Given the description of an element on the screen output the (x, y) to click on. 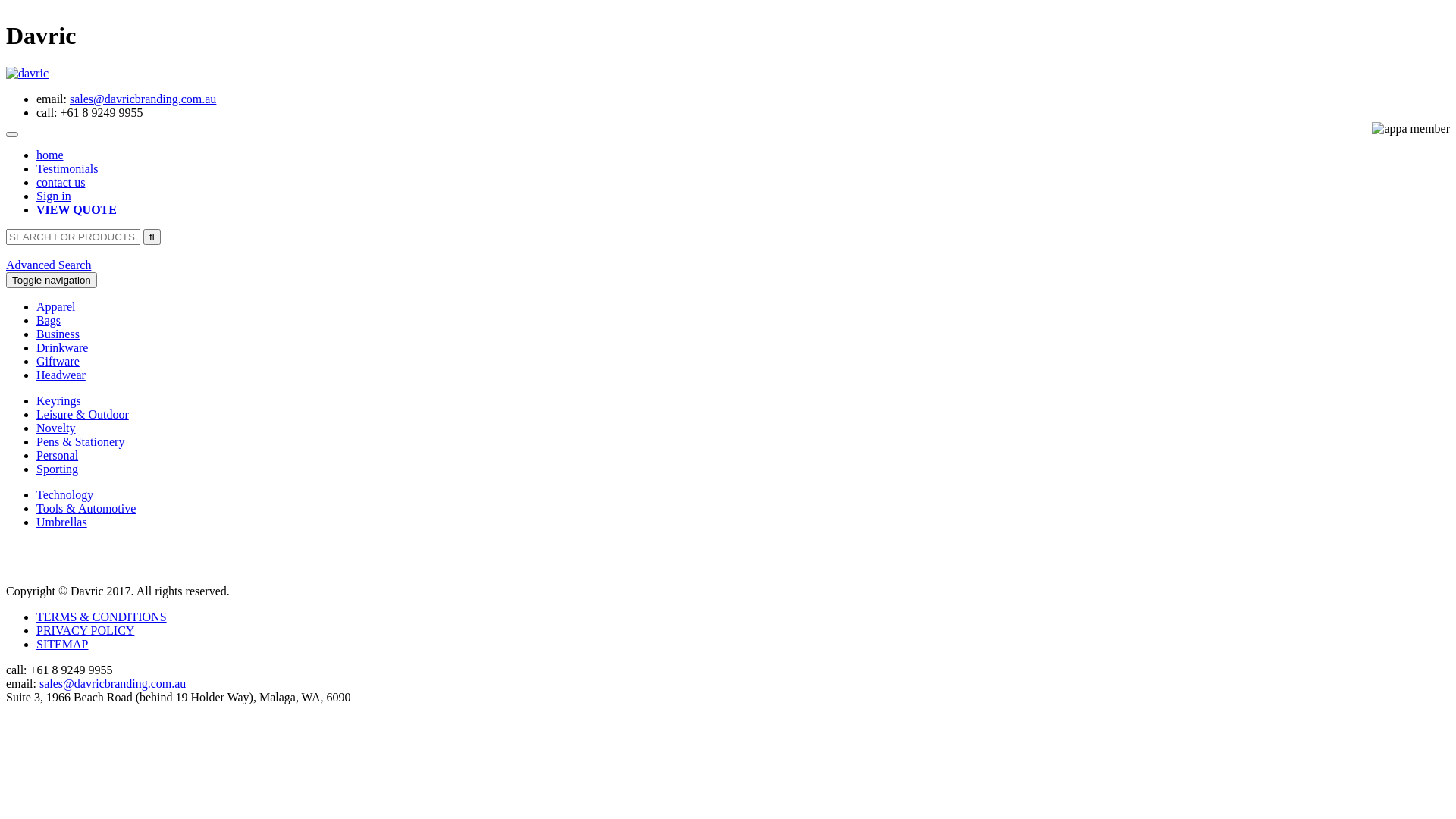
Personal Element type: text (57, 454)
Technology Element type: text (64, 494)
Tools & Automotive Element type: text (85, 508)
SITEMAP Element type: text (61, 643)
contact us Element type: text (60, 181)
Drinkware Element type: text (61, 347)
Toggle navigation Element type: text (51, 280)
sales@davricbranding.com.au Element type: text (142, 98)
Advanced Search Element type: text (48, 264)
Novelty Element type: text (55, 427)
home Element type: text (49, 154)
Testimonials Element type: text (67, 168)
Sporting Element type: text (57, 468)
Business Element type: text (57, 333)
Bags Element type: text (48, 319)
TERMS & CONDITIONS Element type: text (101, 616)
sales@davricbranding.com.au Element type: text (112, 683)
Apparel Element type: text (55, 306)
VIEW QUOTE Element type: text (76, 209)
Umbrellas Element type: text (61, 521)
Headwear Element type: text (60, 374)
Pens & Stationery Element type: text (80, 441)
Leisure & Outdoor Element type: text (82, 413)
Sign in Element type: text (53, 195)
Keyrings Element type: text (58, 400)
PRIVACY POLICY Element type: text (85, 630)
Giftware Element type: text (57, 360)
